Given the description of an element on the screen output the (x, y) to click on. 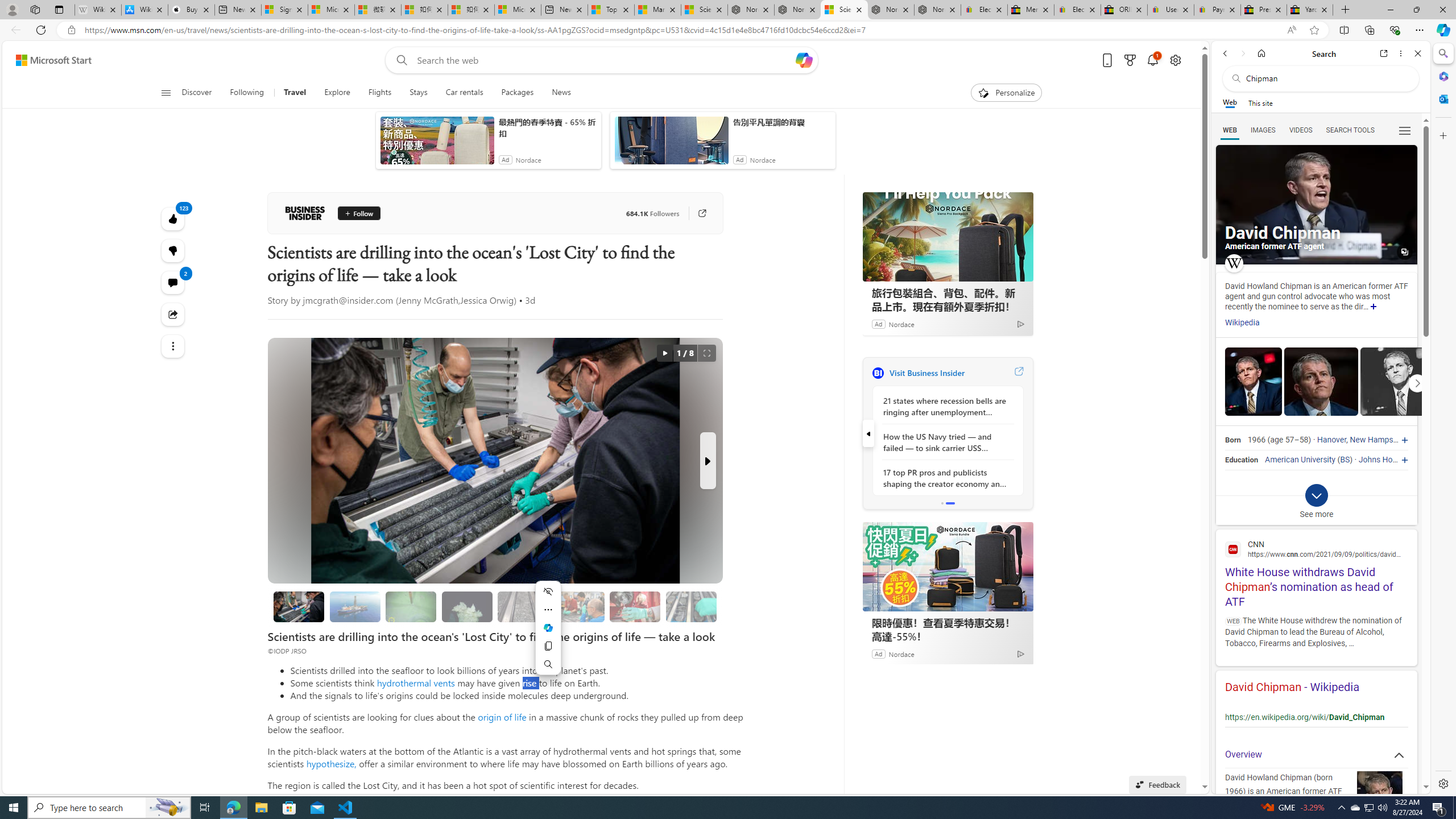
Flights (379, 92)
Class: b_serphb (1404, 130)
Car rentals (464, 92)
Notifications (1152, 60)
The Lost City could hold clues to the origin of life. (466, 606)
All images (1315, 204)
Follow (358, 213)
Next Slide (707, 460)
Electronics, Cars, Fashion, Collectibles & More | eBay (1077, 9)
